Given the description of an element on the screen output the (x, y) to click on. 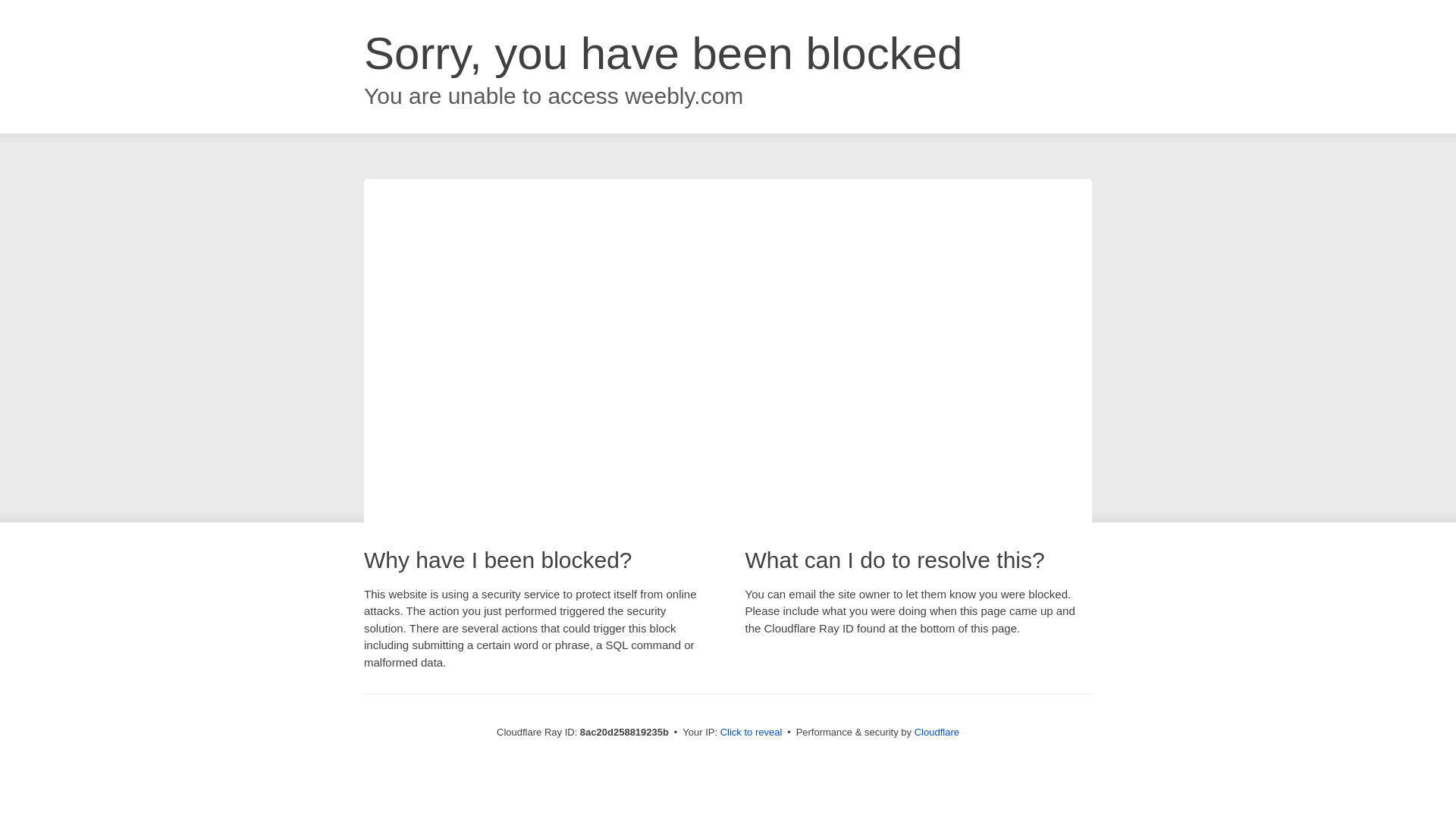
Cloudflare (936, 731)
Click to reveal (751, 732)
